Given the description of an element on the screen output the (x, y) to click on. 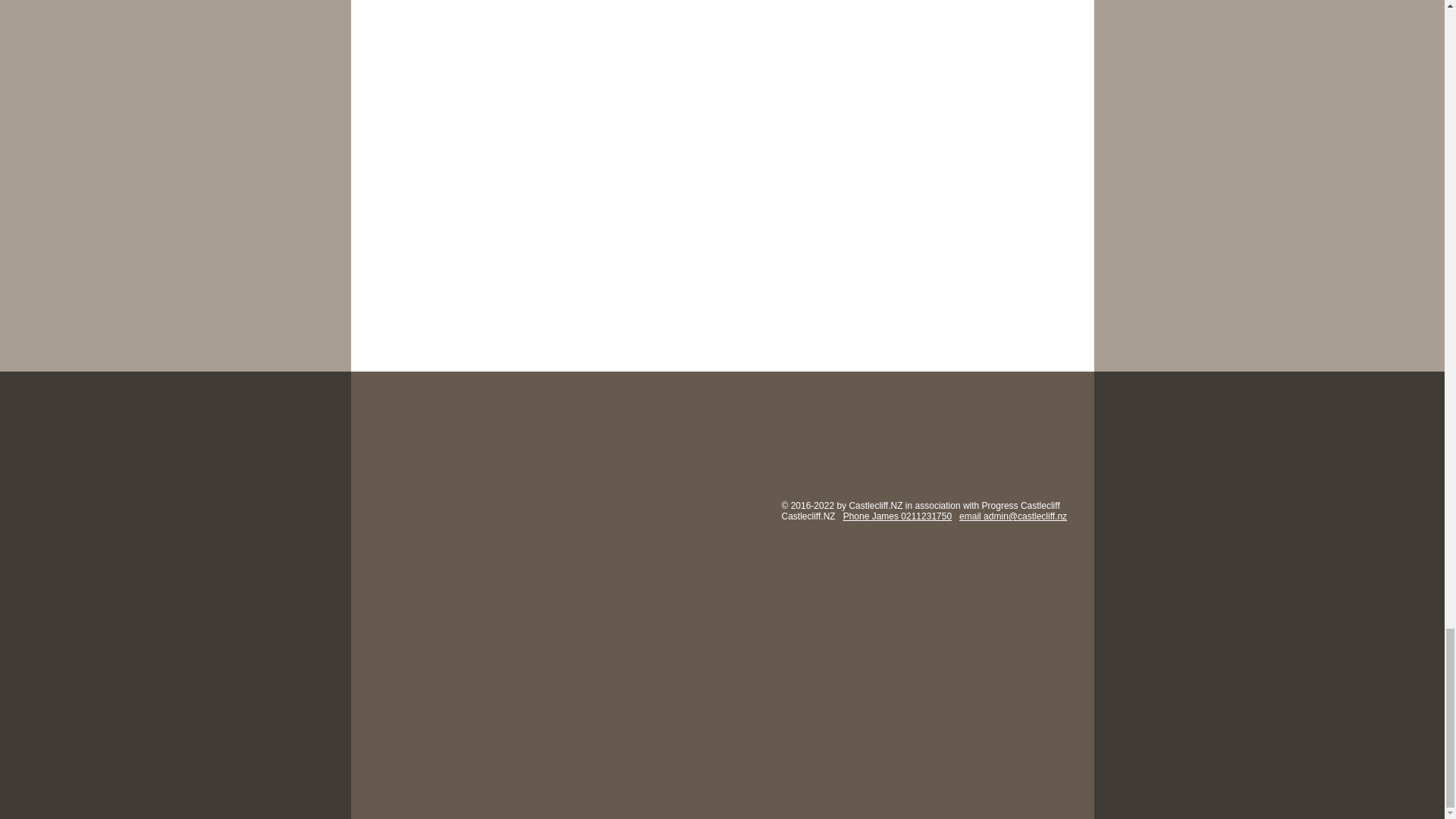
Phone James 0211231750 (897, 516)
